Given the description of an element on the screen output the (x, y) to click on. 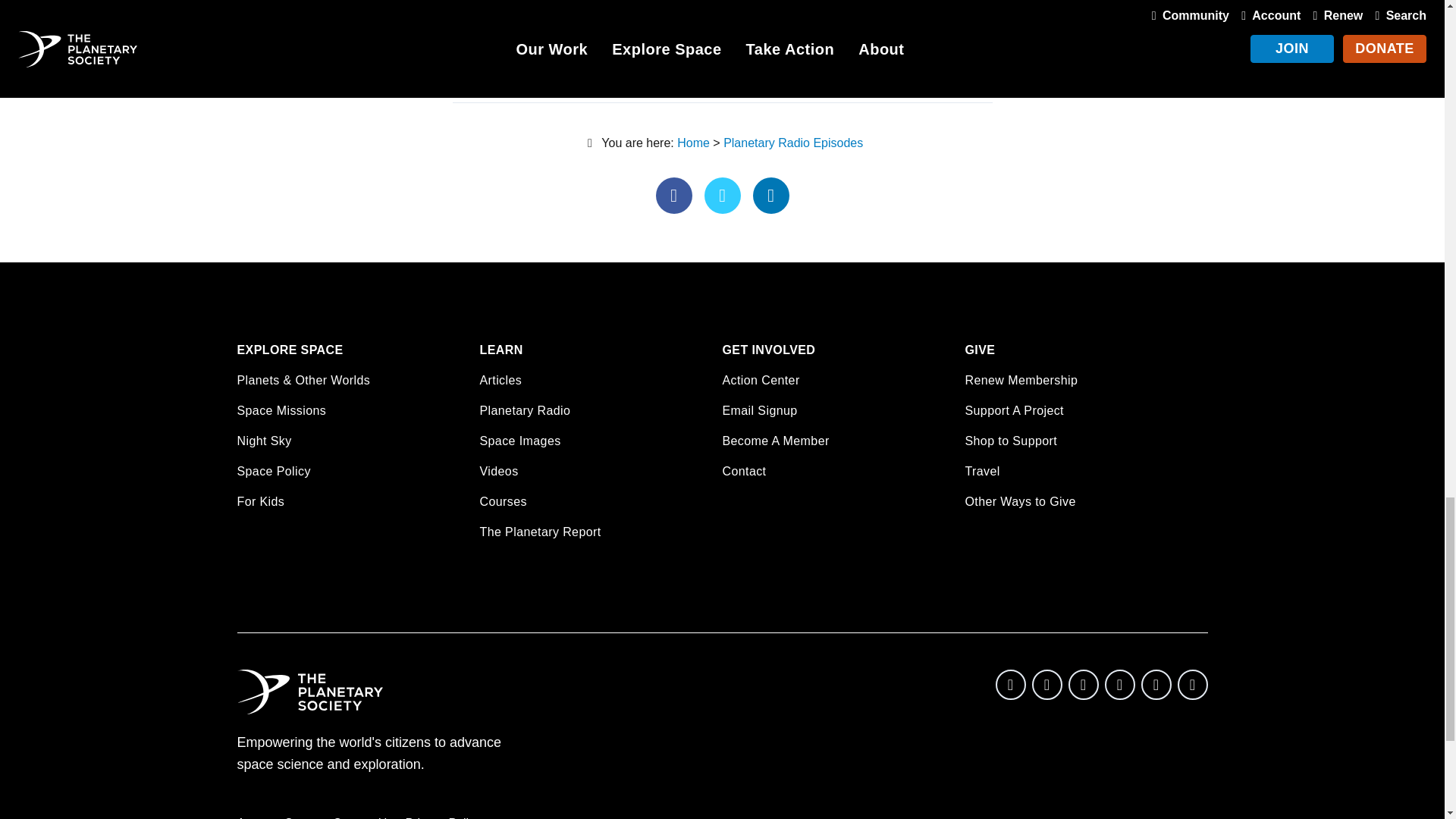
Subscribe (912, 4)
